Given the description of an element on the screen output the (x, y) to click on. 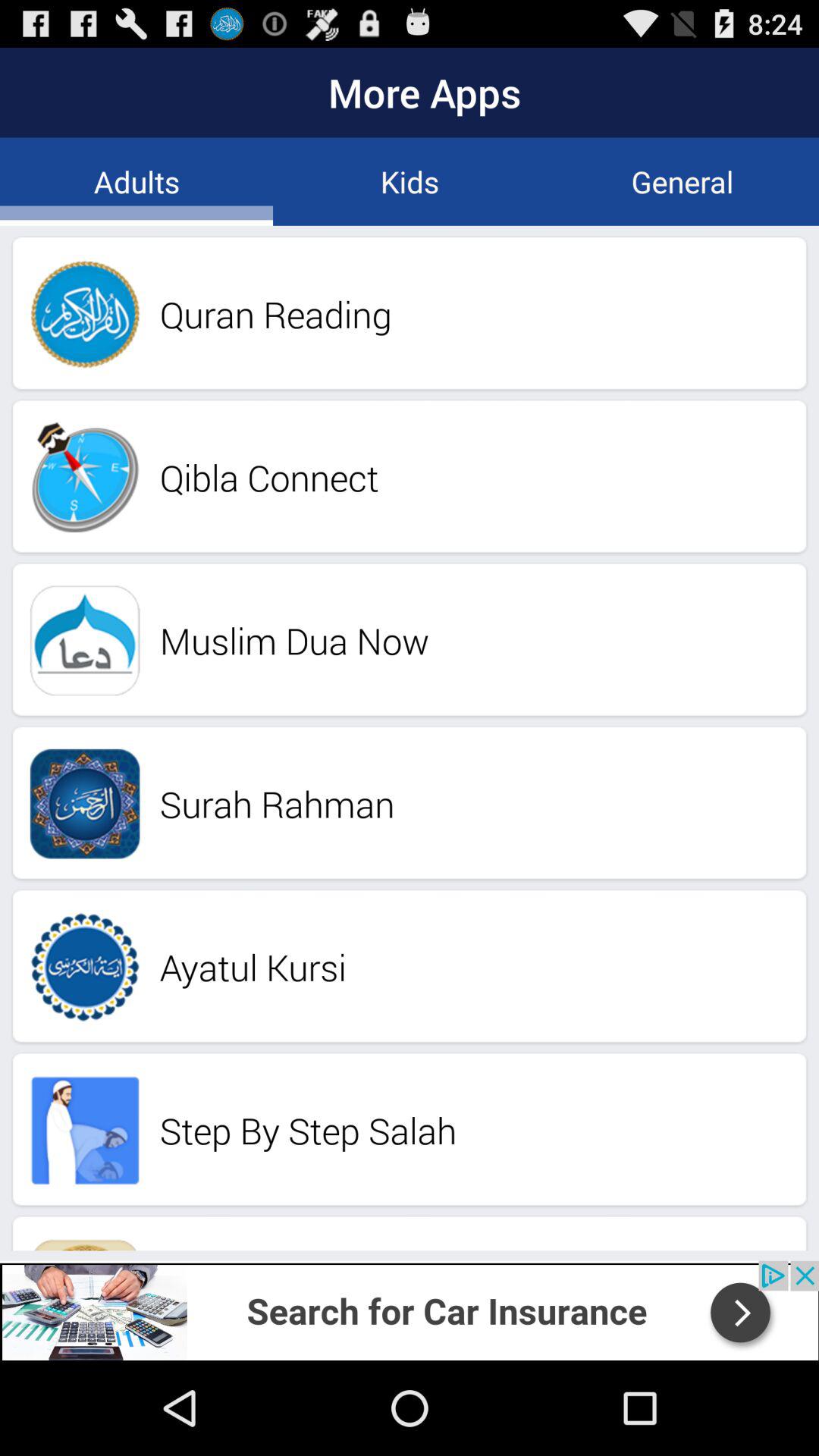
click the search bar (409, 1310)
